Given the description of an element on the screen output the (x, y) to click on. 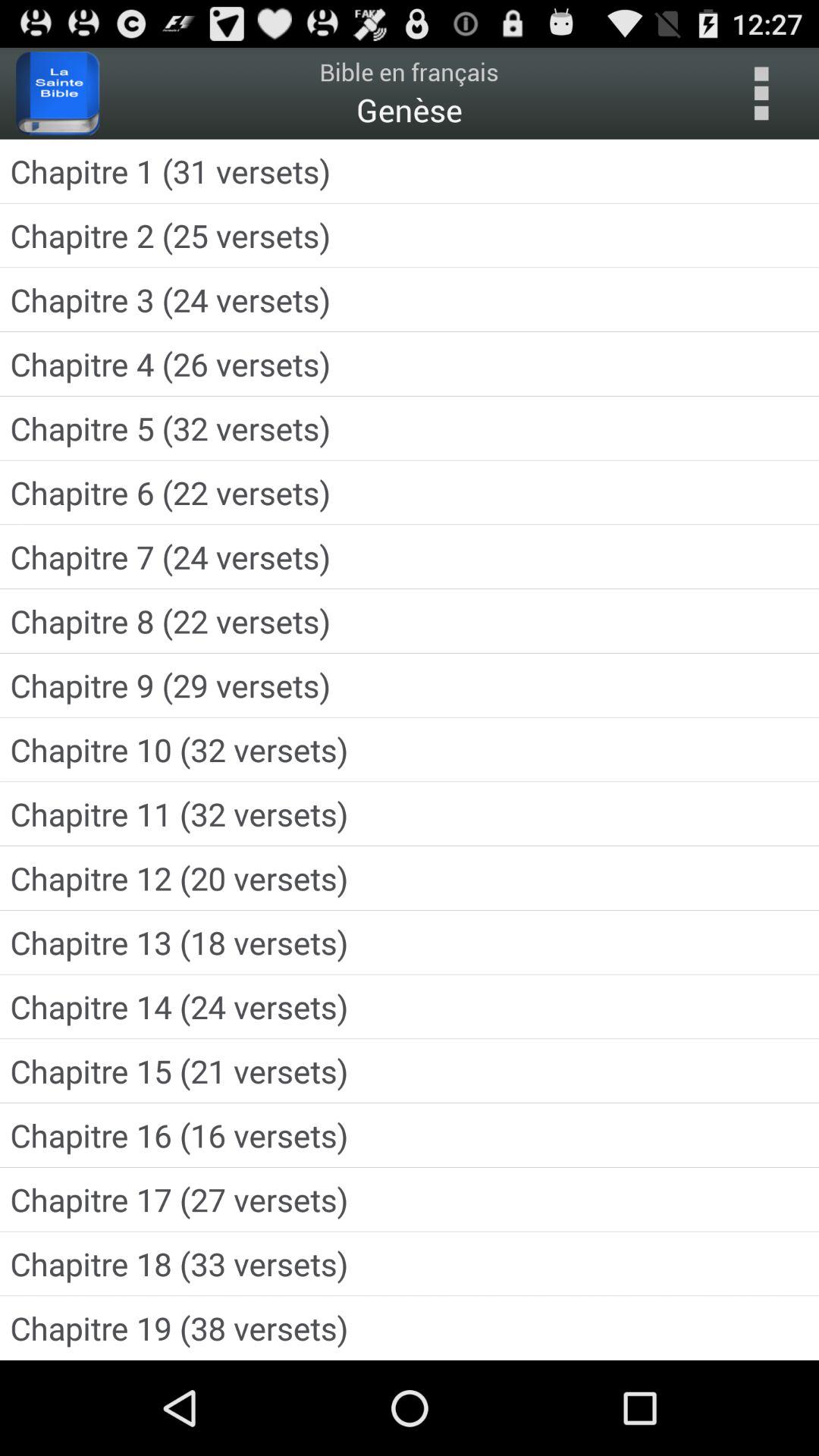
open chapitre 1 31 (409, 170)
